Given the description of an element on the screen output the (x, y) to click on. 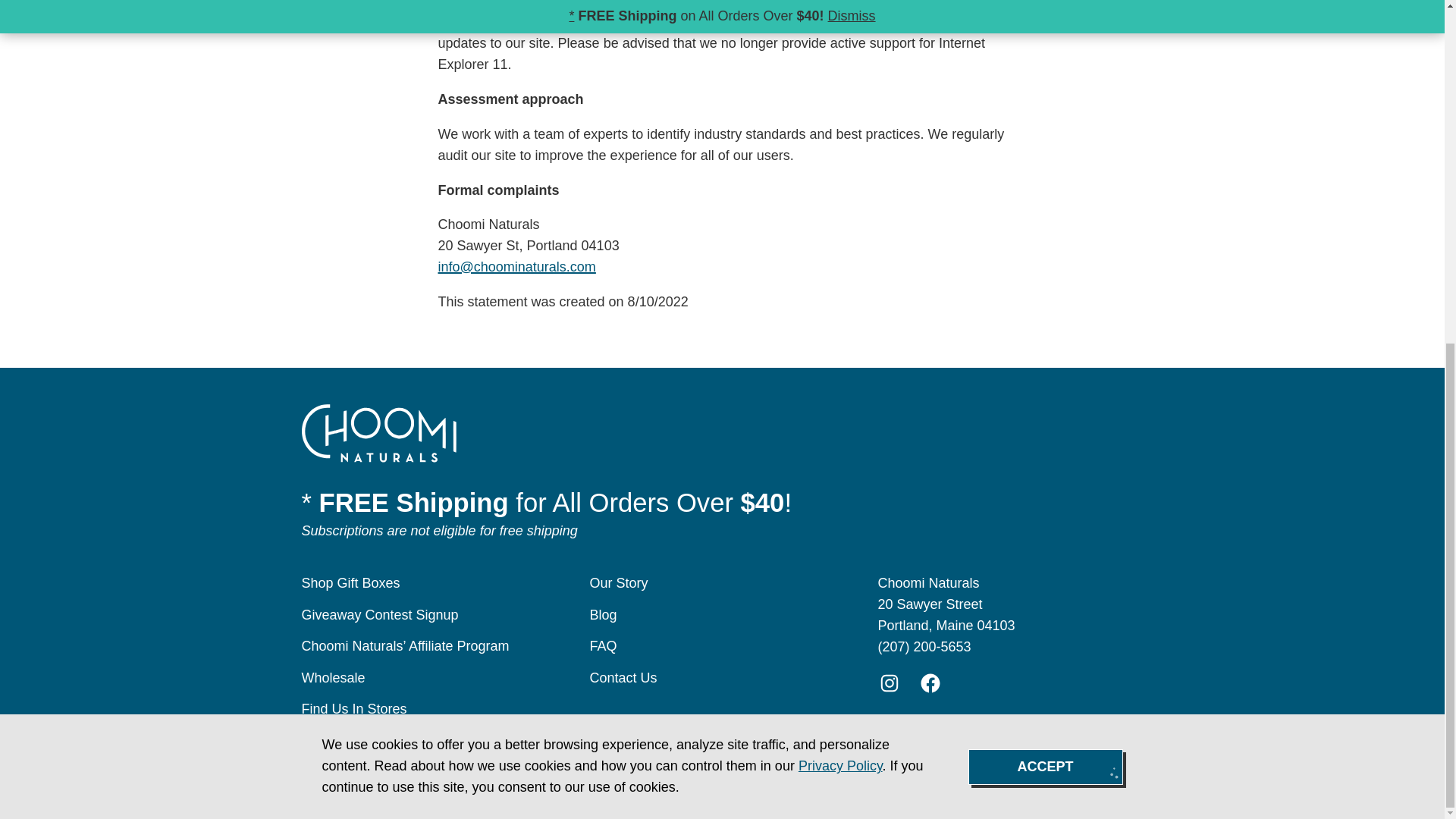
Facebook (930, 682)
Find Us In Stores (354, 708)
Blog (603, 614)
Contact Us (623, 677)
Instagram (889, 682)
Giveaway Contest Signup (379, 614)
Wholesale (333, 677)
FAQ (603, 645)
Accessibility Statement (558, 755)
Shop Gift Boxes (350, 582)
Our Story (618, 582)
